Given the description of an element on the screen output the (x, y) to click on. 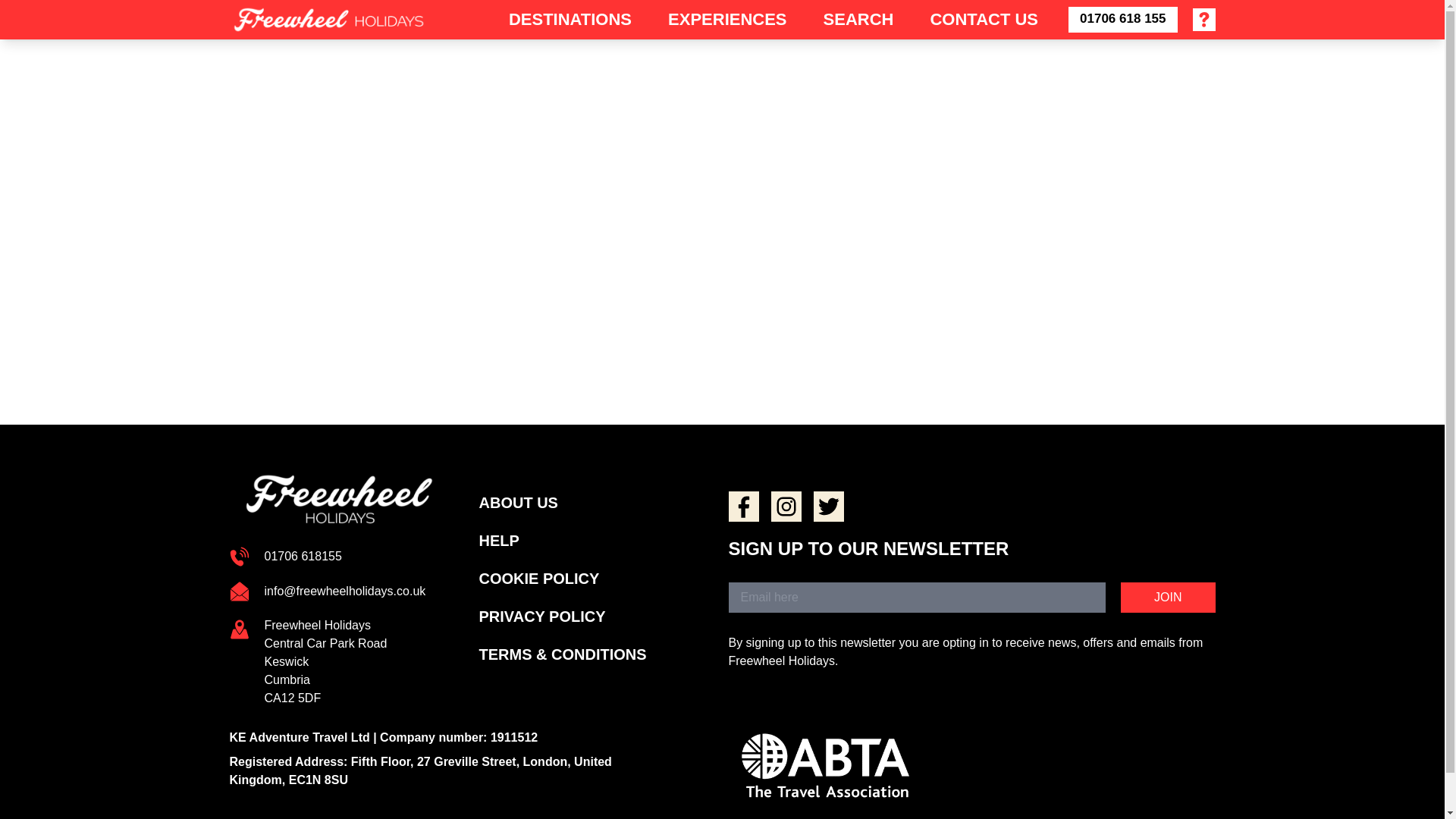
JOIN (1167, 597)
EXPERIENCES (727, 18)
CONTACT US (983, 18)
SEARCH (857, 18)
01706 618 155 (1122, 19)
DESTINATIONS (569, 18)
